Given the description of an element on the screen output the (x, y) to click on. 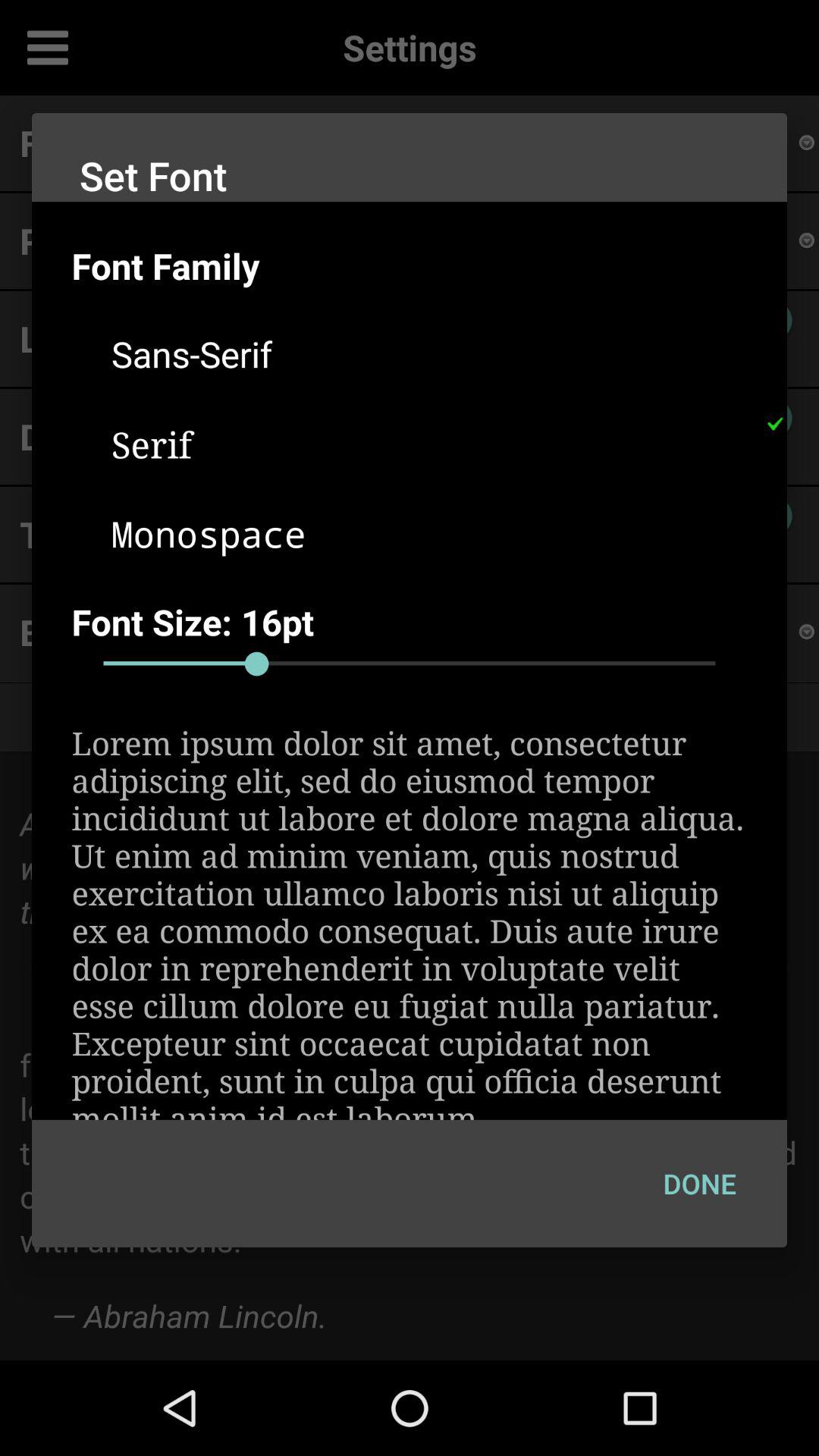
press the icon above serif (429, 353)
